Given the description of an element on the screen output the (x, y) to click on. 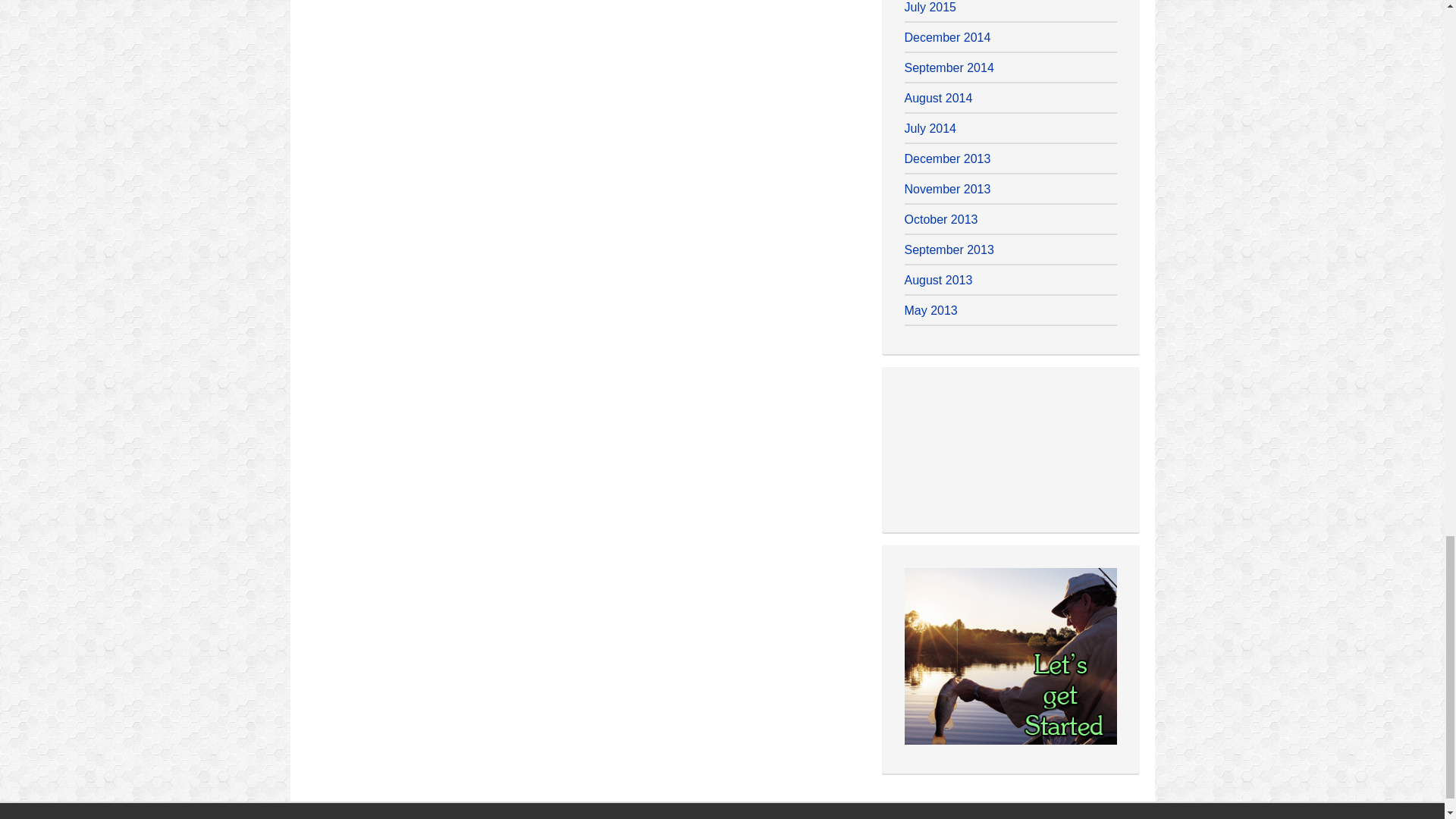
October 2013 (940, 219)
August 2014 (938, 97)
November 2013 (947, 188)
Privacy Policy (735, 818)
December 2013 (947, 158)
December 2014 (947, 37)
July 2014 (930, 128)
DMCA Policy (818, 818)
Terms Of Use (900, 818)
August 2013 (938, 279)
September 2013 (948, 249)
Contact (968, 818)
July 2015 (930, 6)
September 2014 (948, 67)
May 2013 (930, 309)
